Given the description of an element on the screen output the (x, y) to click on. 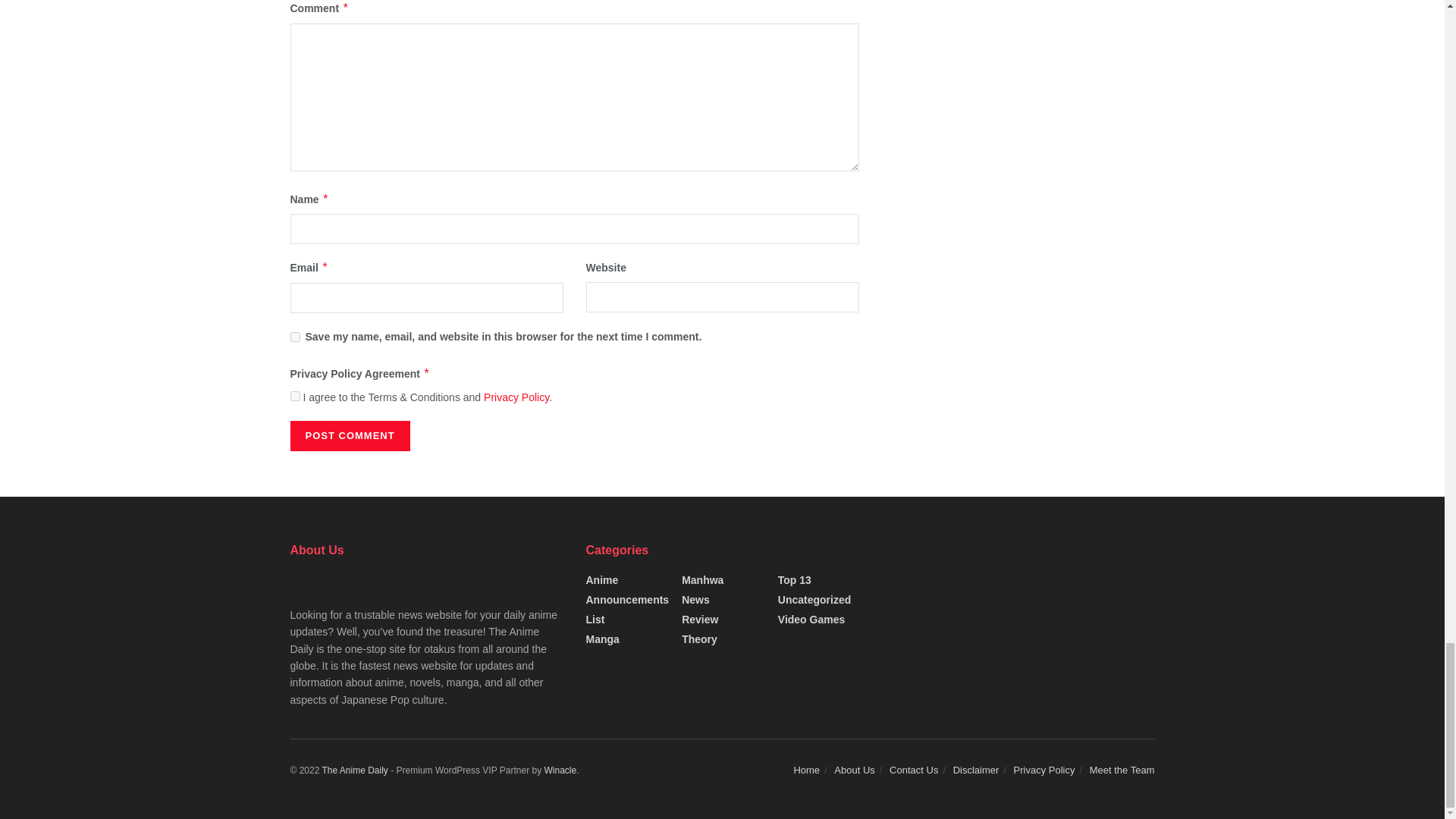
Post Comment (349, 435)
on (294, 396)
Winacle (560, 769)
yes (294, 337)
